Given the description of an element on the screen output the (x, y) to click on. 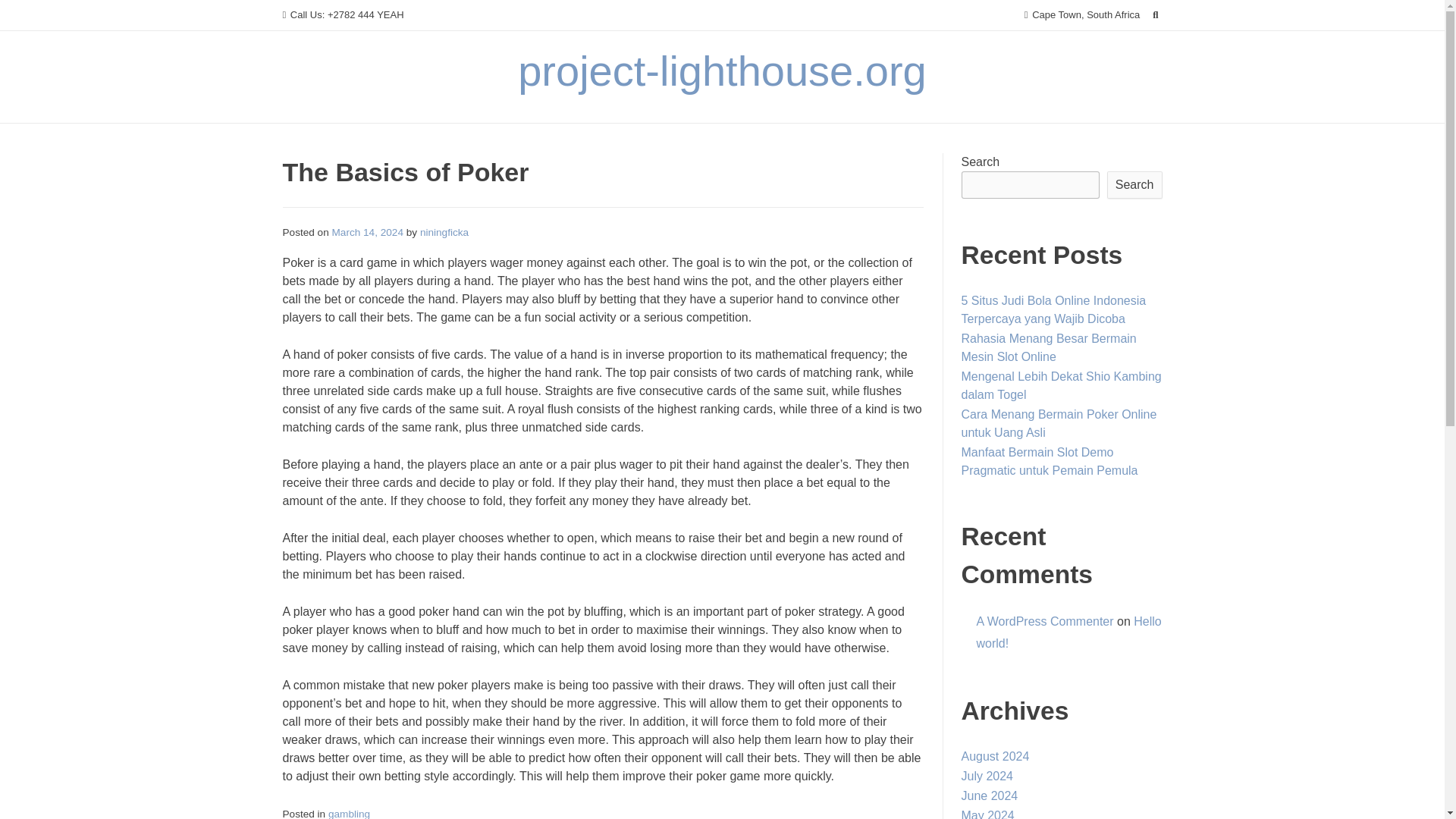
Rahasia Menang Besar Bermain Mesin Slot Online (1048, 347)
niningficka (444, 232)
March 14, 2024 (367, 232)
June 2024 (988, 795)
July 2024 (986, 775)
Manfaat Bermain Slot Demo Pragmatic untuk Pemain Pemula (1049, 460)
A WordPress Commenter (1044, 621)
May 2024 (987, 814)
gambling (349, 813)
